Given the description of an element on the screen output the (x, y) to click on. 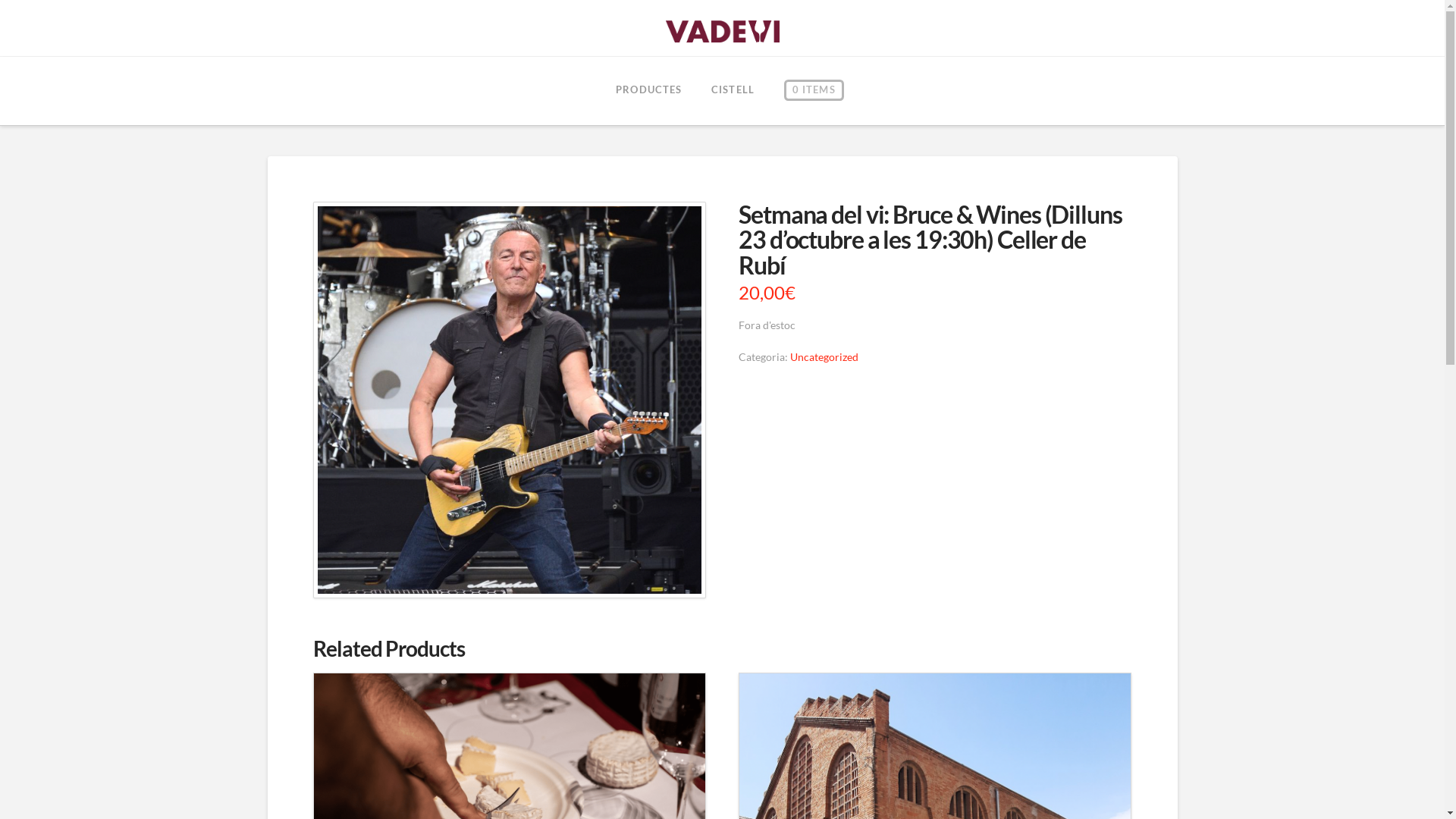
PRODUCTES Element type: text (648, 90)
Captura de Pantalla 2023-10-17 a les 10.18.43 Element type: hover (508, 399)
0 ITEMS Element type: text (814, 90)
Captura de Pantalla 2023-10-17 a les 10.18.43 Element type: hover (508, 399)
CISTELL Element type: text (732, 90)
Uncategorized Element type: text (824, 356)
